Given the description of an element on the screen output the (x, y) to click on. 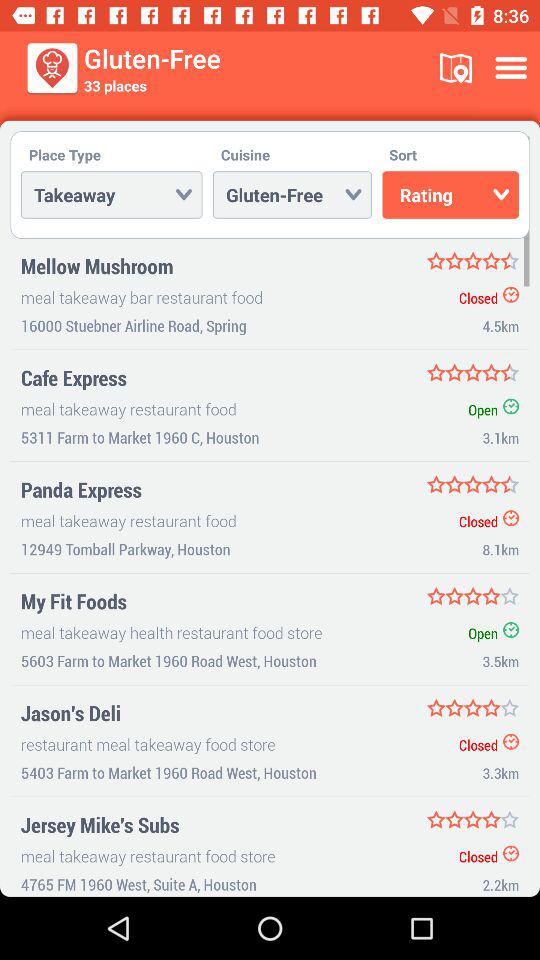
tap the item next to the gluten-free icon (455, 67)
